Given the description of an element on the screen output the (x, y) to click on. 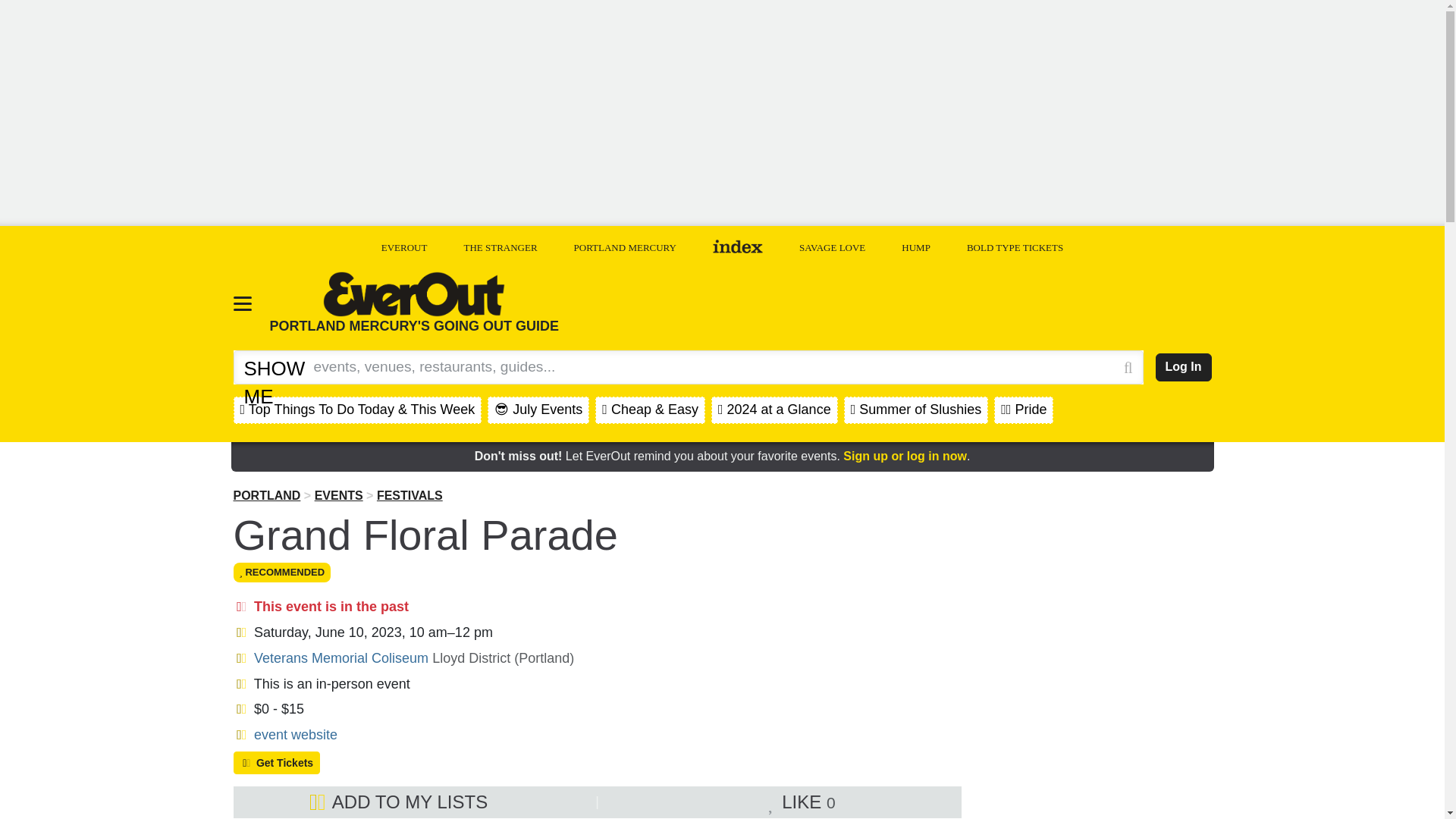
Veterans Memorial Coliseum (340, 657)
PORTLAND MERCURY (625, 247)
EVENTS (338, 495)
PORTLAND (266, 495)
Sign up or log in now (904, 455)
3rd party ad content (1097, 755)
FESTIVALS (409, 495)
THE STRANGER (500, 247)
HUMP (915, 247)
EVEROUT (404, 247)
3rd party ad content (935, 304)
SAVAGE LOVE (831, 247)
Log In (1183, 366)
3rd party ad content (1097, 584)
BOLD TYPE TICKETS (1014, 247)
